Given the description of an element on the screen output the (x, y) to click on. 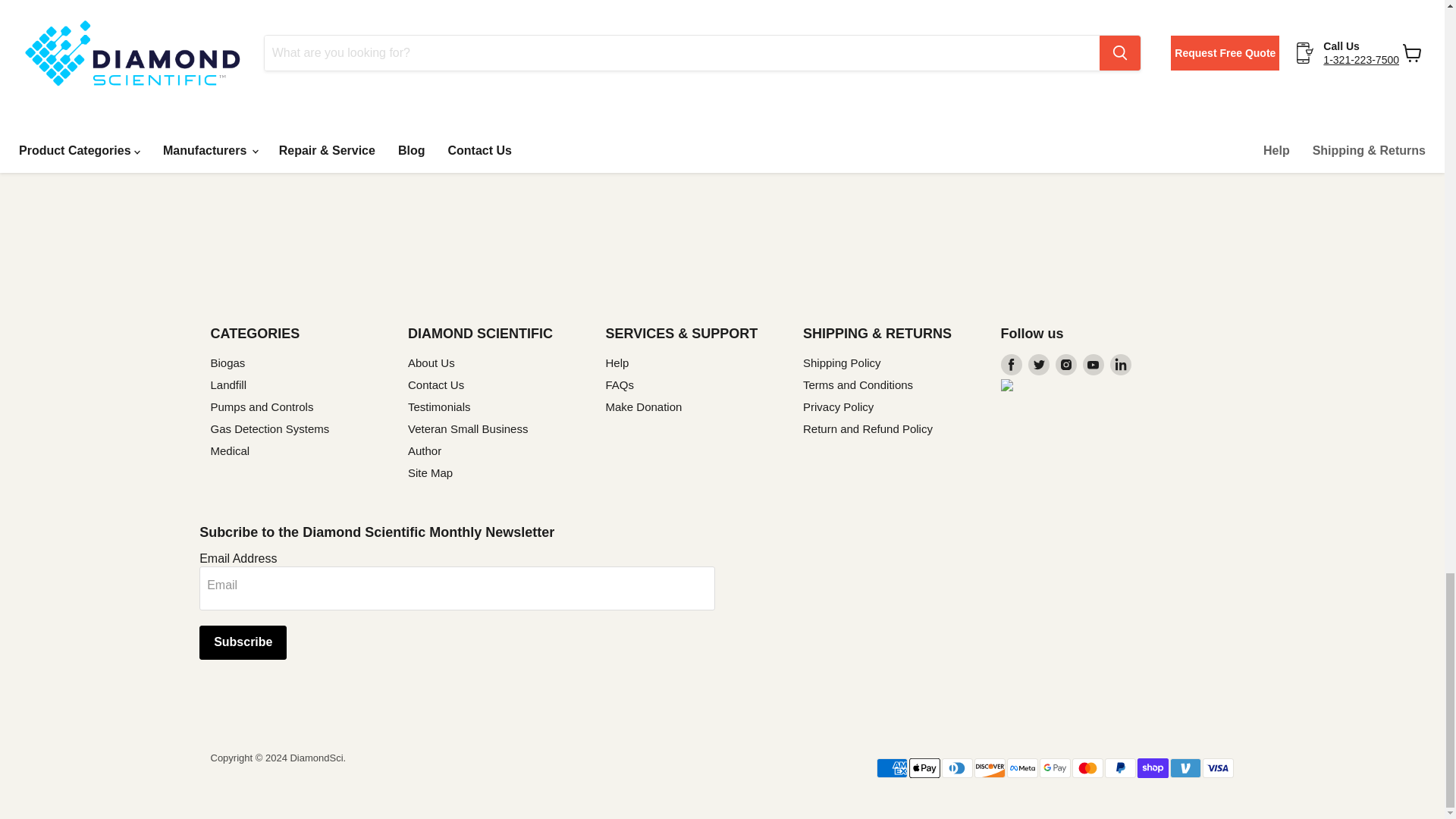
Discover (990, 768)
Twitter (1038, 364)
Instagram (1066, 364)
LinkedIn (1120, 364)
Youtube (1093, 364)
Facebook (1011, 364)
American Express (891, 768)
Diners Club (956, 768)
Apple Pay (924, 768)
